Given the description of an element on the screen output the (x, y) to click on. 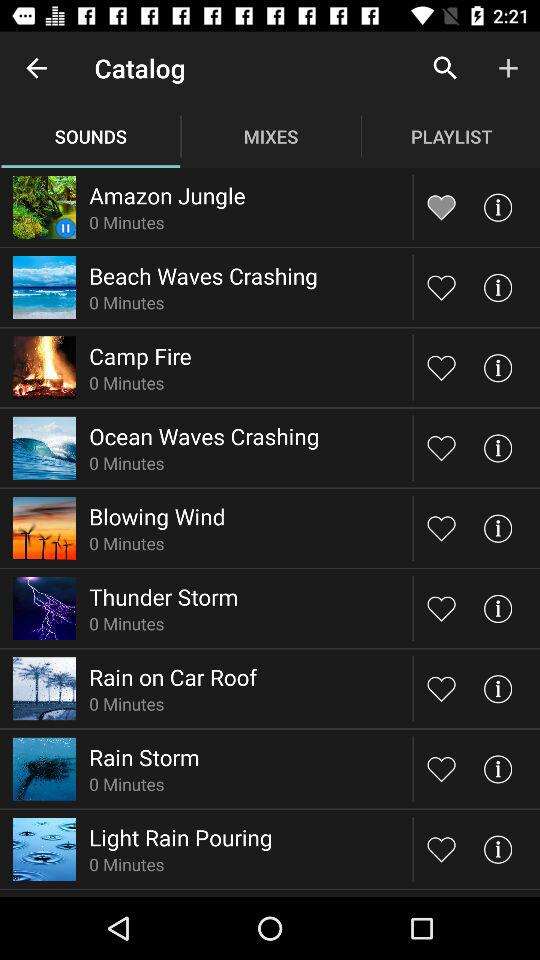
more information (498, 206)
